Given the description of an element on the screen output the (x, y) to click on. 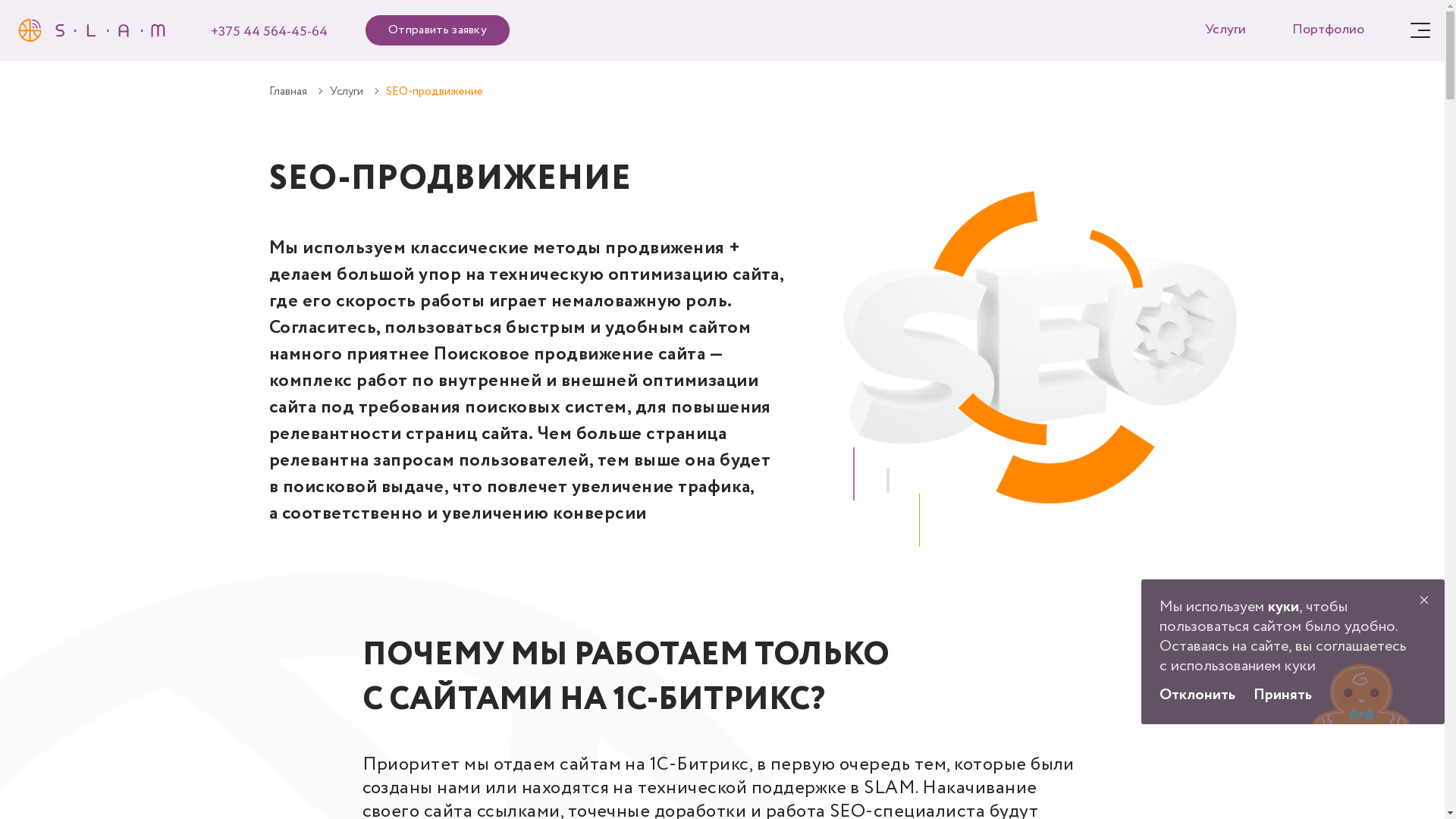
S.L.A.M Element type: hover (91, 29)
+375 44 564-45-64 Element type: text (268, 31)
